Given the description of an element on the screen output the (x, y) to click on. 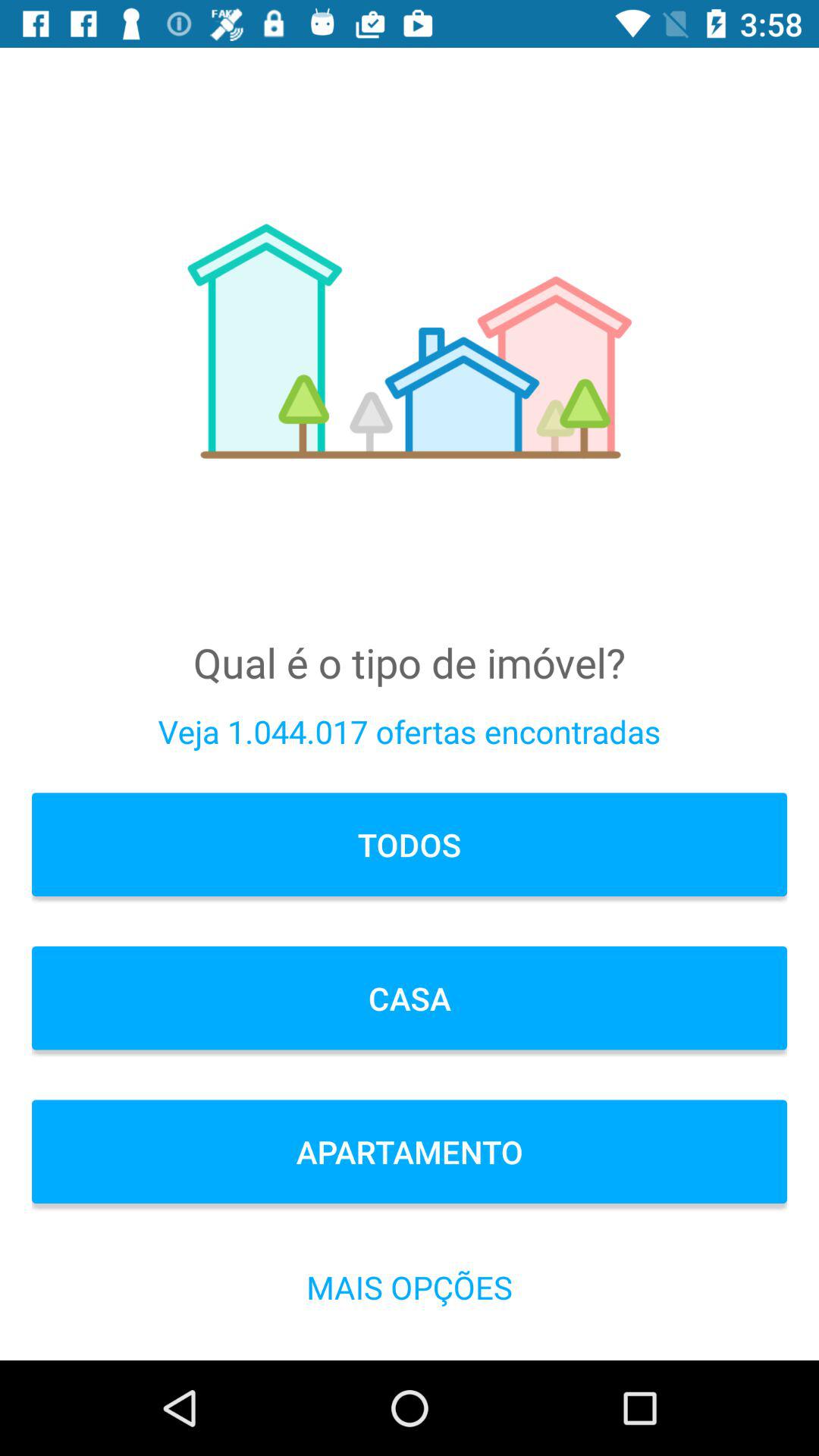
launch icon above apartamento (409, 997)
